Given the description of an element on the screen output the (x, y) to click on. 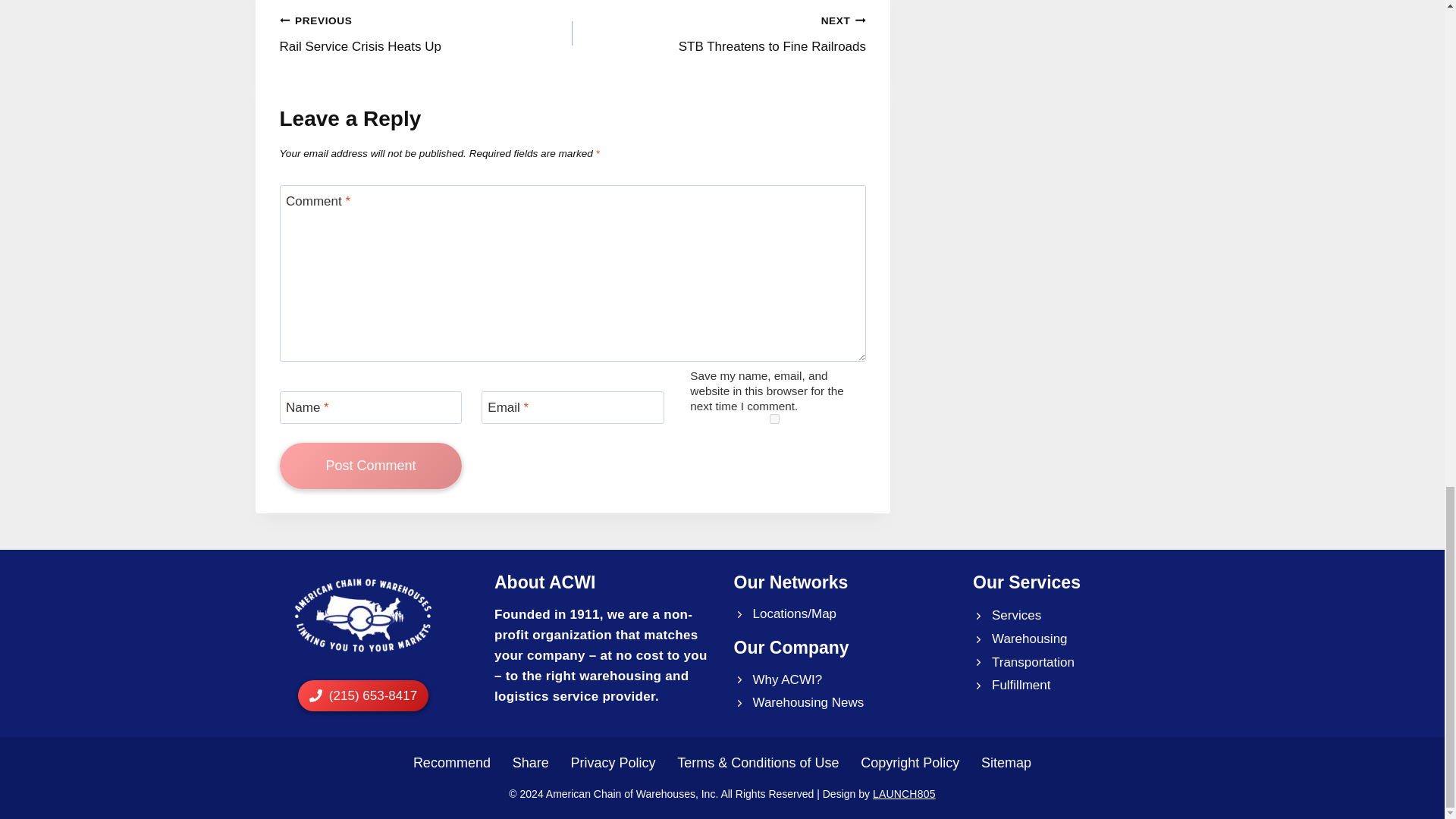
Services (425, 33)
Why ACWI? (1006, 616)
American Chain of Warehouses, Inc. (777, 680)
Post Comment (362, 614)
yes (370, 465)
Warehousing News (719, 33)
Post Comment (774, 419)
